Given the description of an element on the screen output the (x, y) to click on. 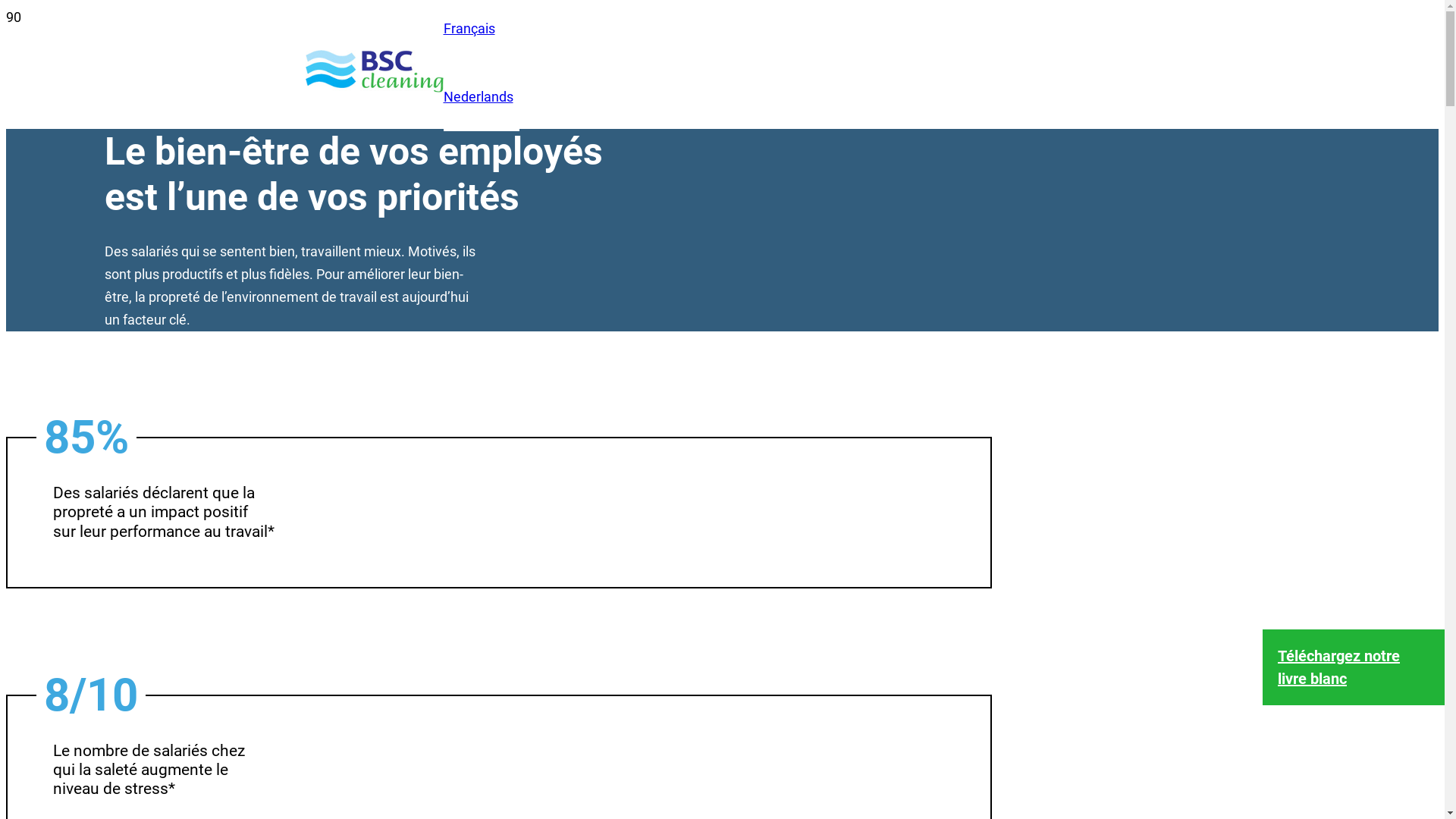
Nederlands Element type: text (477, 96)
